Given the description of an element on the screen output the (x, y) to click on. 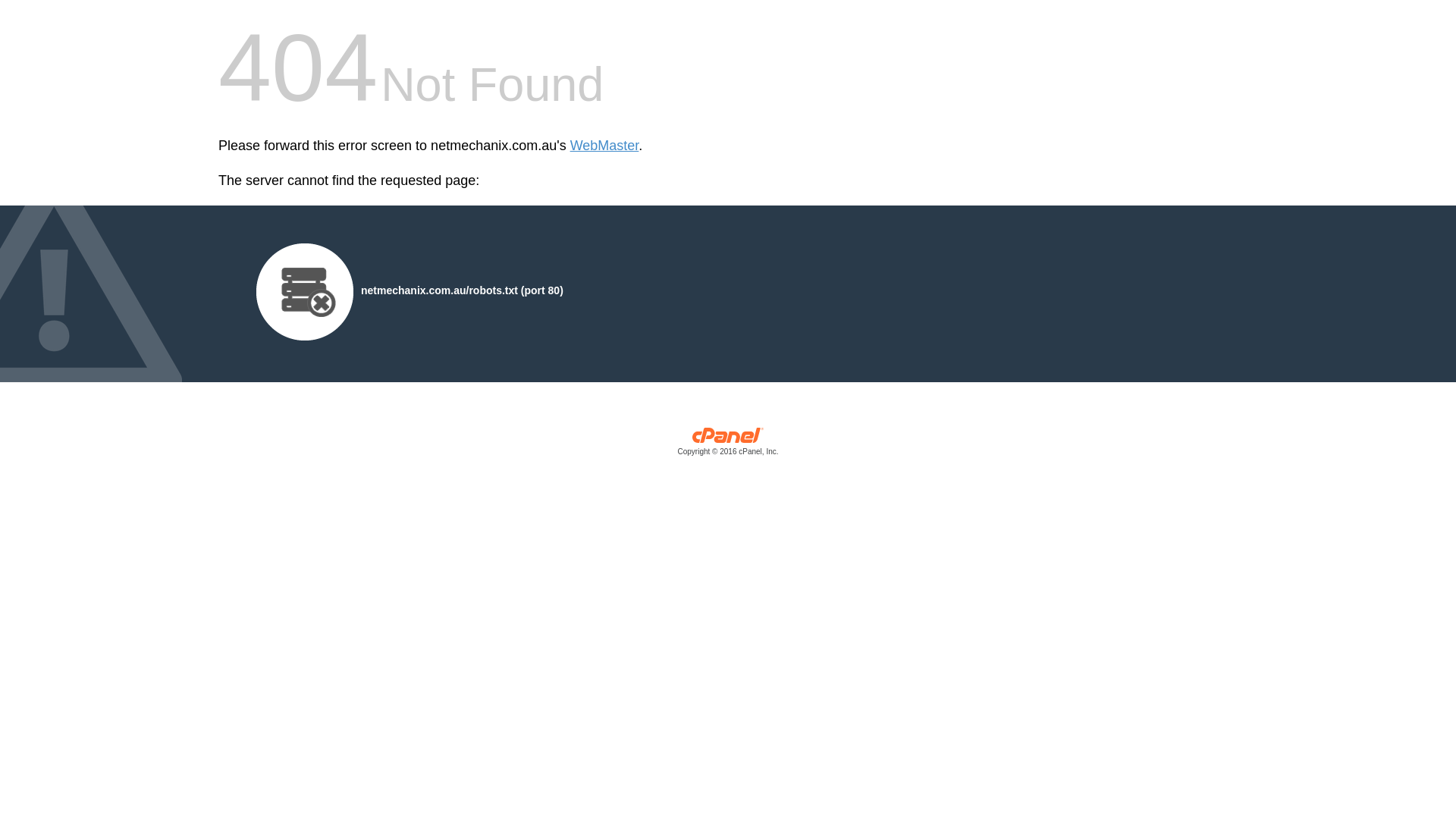
WebMaster Element type: text (604, 145)
